Given the description of an element on the screen output the (x, y) to click on. 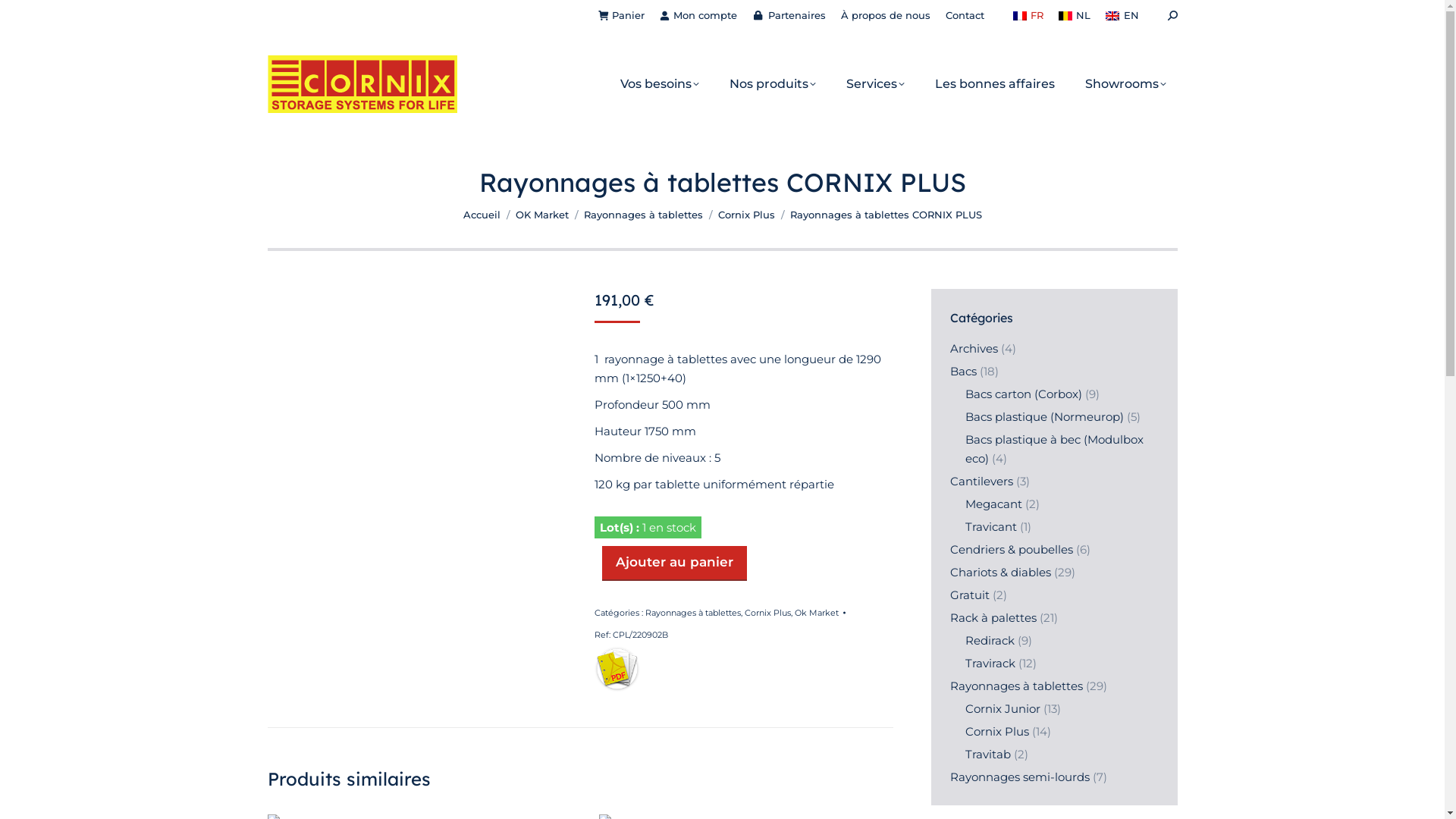
FR Element type: text (1028, 15)
Travitab Element type: text (987, 753)
Les bonnes affaires Element type: text (994, 83)
Cendriers & poubelles Element type: text (1010, 548)
Rayonnages semi-lourds Element type: text (1018, 776)
Cornix Plus Element type: text (767, 612)
Ajouter au panier Element type: text (674, 562)
EN Element type: text (1121, 15)
Bacs Element type: text (962, 370)
Gratuit Element type: text (968, 594)
Aller ! Element type: text (31, 20)
Vos besoins Element type: text (658, 83)
Contact Element type: text (964, 15)
Archives Element type: text (973, 347)
OK Market Element type: text (541, 214)
Nos produits Element type: text (771, 83)
Travicant Element type: text (990, 526)
Travirack Element type: text (989, 662)
Bacs carton (Corbox) Element type: text (1022, 393)
Aller ! Element type: text (752, 452)
Cantilevers Element type: text (980, 480)
Panier Element type: text (621, 15)
Cornix Plus Element type: text (996, 730)
Showrooms Element type: text (1125, 83)
Cornix Plus Element type: text (745, 214)
Bacs plastique (Normeurop) Element type: text (1043, 416)
Megacant Element type: text (992, 503)
Ok Market Element type: text (816, 612)
Redirack Element type: text (988, 639)
Partenaires Element type: text (788, 15)
Services Element type: text (874, 83)
Mon compte Element type: text (698, 15)
Cornix Junior Element type: text (1001, 708)
NL Element type: text (1074, 15)
Chariots & diables Element type: text (999, 571)
Accueil Element type: text (480, 214)
